Given the description of an element on the screen output the (x, y) to click on. 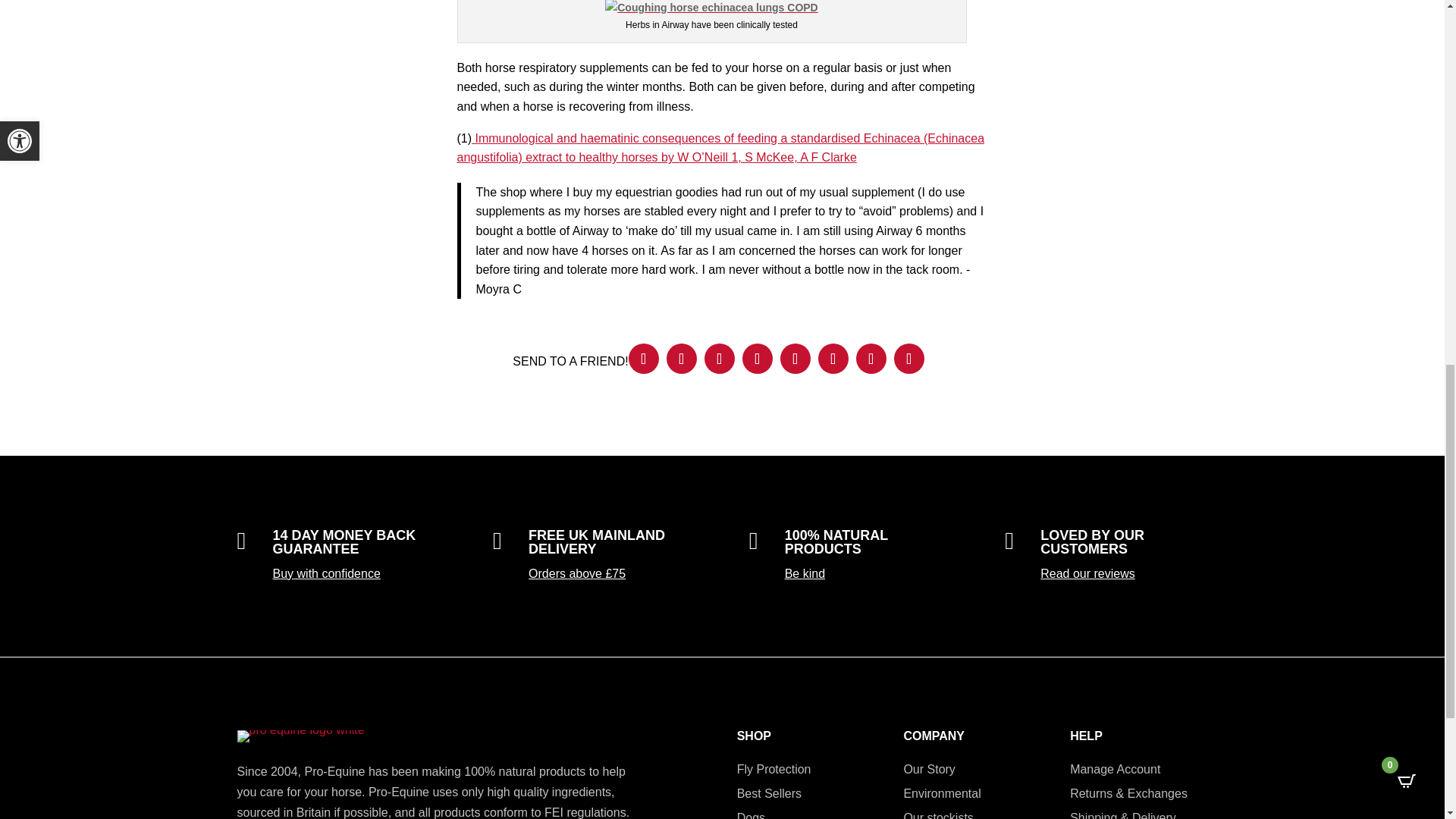
Best Sellers (769, 793)
Dog Range (750, 815)
Pro-Equine-Logo-240x119-red (299, 736)
Read Our Reviews (1088, 573)
Our recycling philosophy  (940, 793)
